Given the description of an element on the screen output the (x, y) to click on. 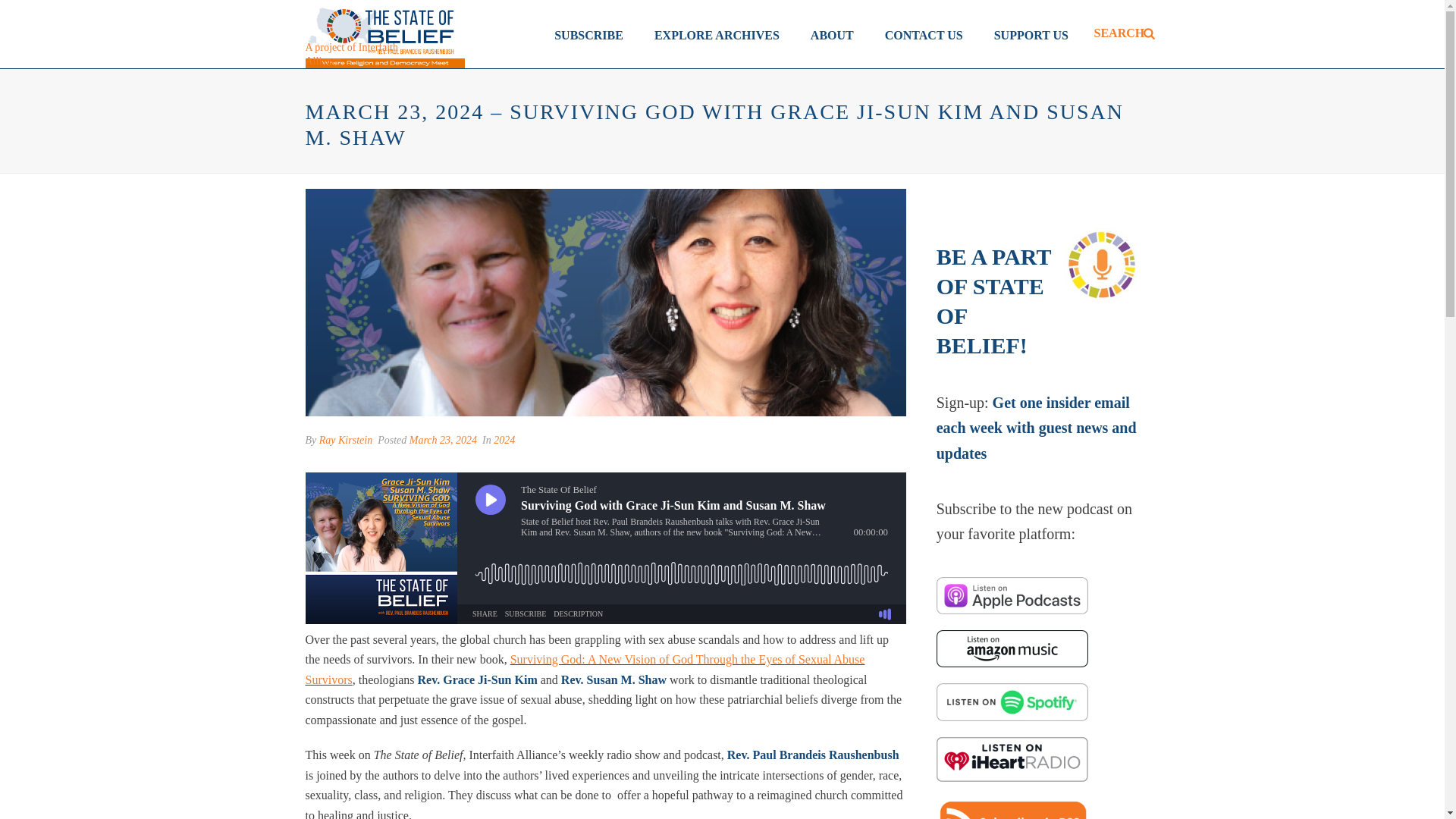
EXPLORE ARCHIVES (716, 33)
Where Religion and Democracy Meet (384, 33)
EXPLORE ARCHIVES (716, 33)
A project of Interfaith Alliance (353, 53)
March 23, 2024 (443, 439)
Ray Kirstein (345, 439)
ABOUT (831, 33)
CONTACT US (923, 33)
SUBSCRIBE (588, 33)
2024 (504, 439)
